Given the description of an element on the screen output the (x, y) to click on. 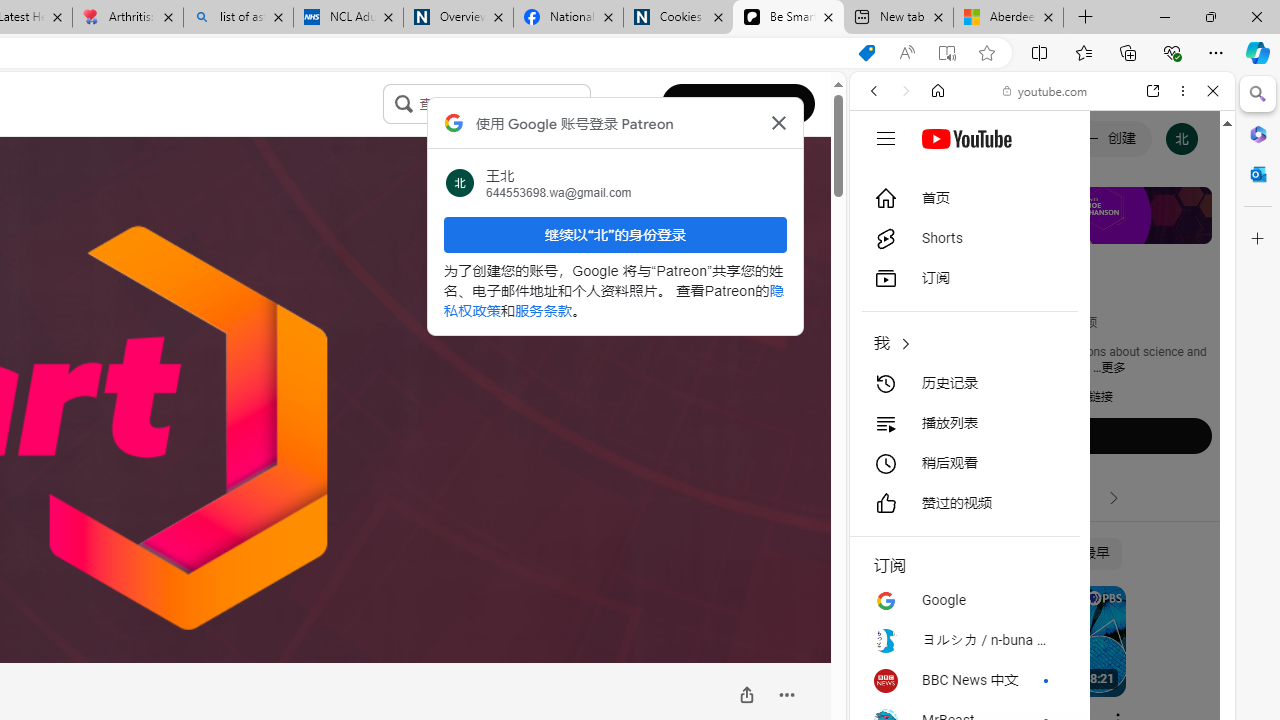
This site scope (936, 180)
AutomationID: button (886, 138)
Class: b_serphb (1190, 229)
youtube.com (1046, 90)
Search Filter, Search Tools (1093, 228)
